Given the description of an element on the screen output the (x, y) to click on. 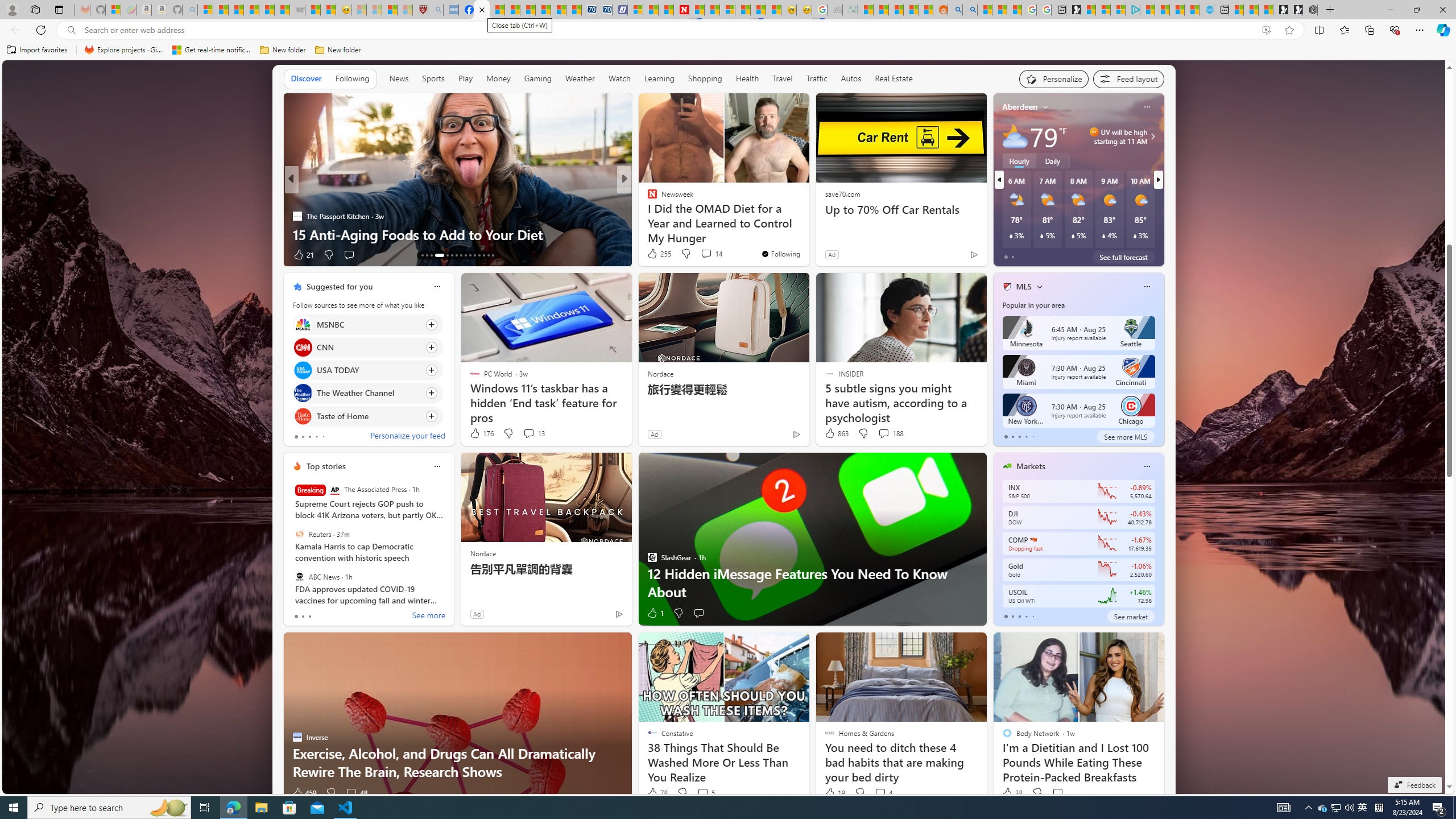
Aberdeen (1019, 106)
Autos (850, 79)
See market (1130, 616)
Autos (851, 78)
12 Popular Science Lies that Must be Corrected - Sleeping (405, 9)
save70.com (842, 193)
Click to follow source Taste of Home (367, 415)
AutomationID: tab-71 (451, 255)
